Given the description of an element on the screen output the (x, y) to click on. 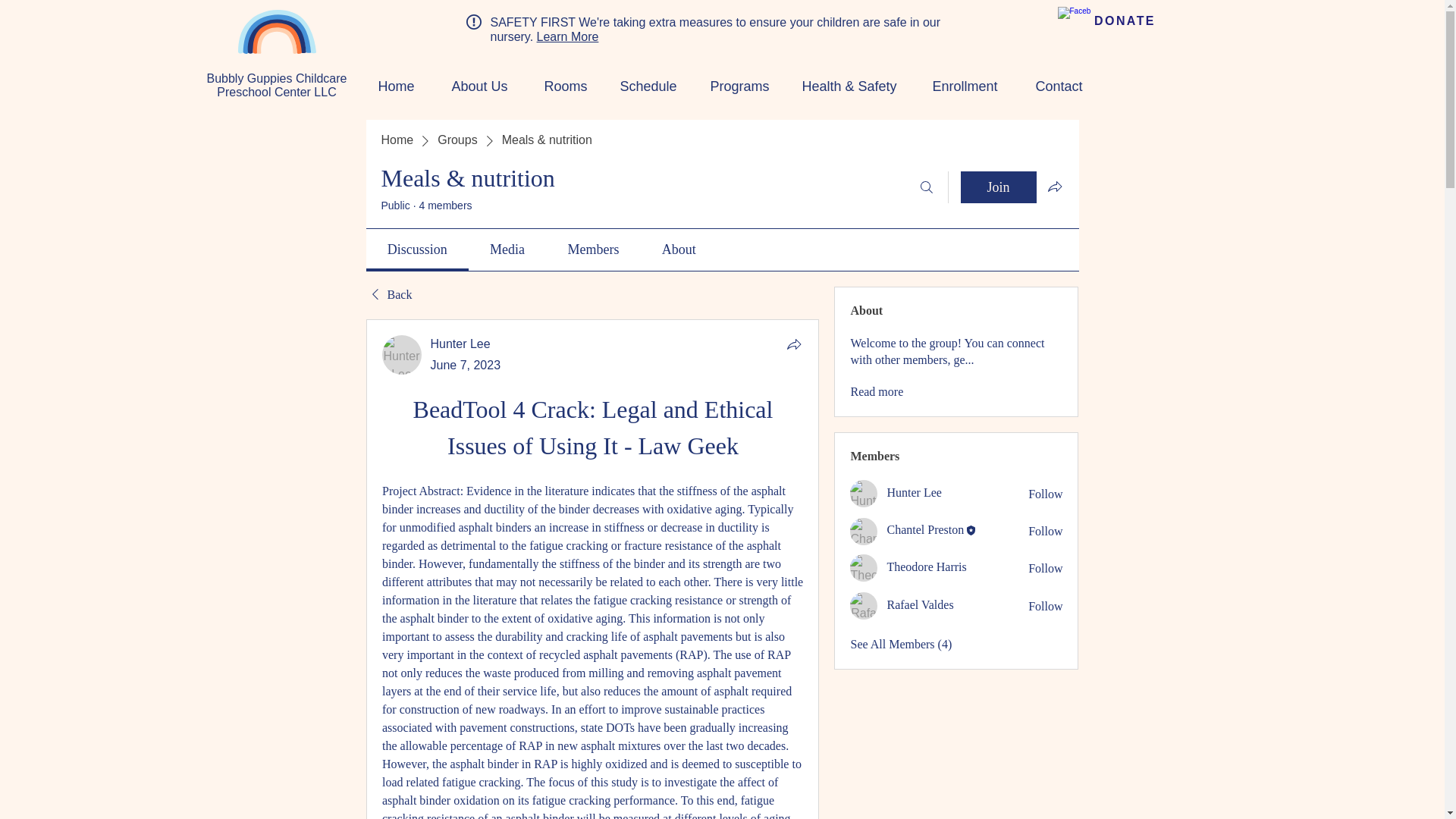
Follow (1044, 531)
June 7, 2023 (465, 364)
Follow (1044, 494)
Programs (734, 86)
Hunter Lee (913, 492)
Theodore Harris (863, 567)
Groups (457, 139)
Rafael Valdes (863, 605)
Enrollment (958, 86)
Back (388, 294)
